Given the description of an element on the screen output the (x, y) to click on. 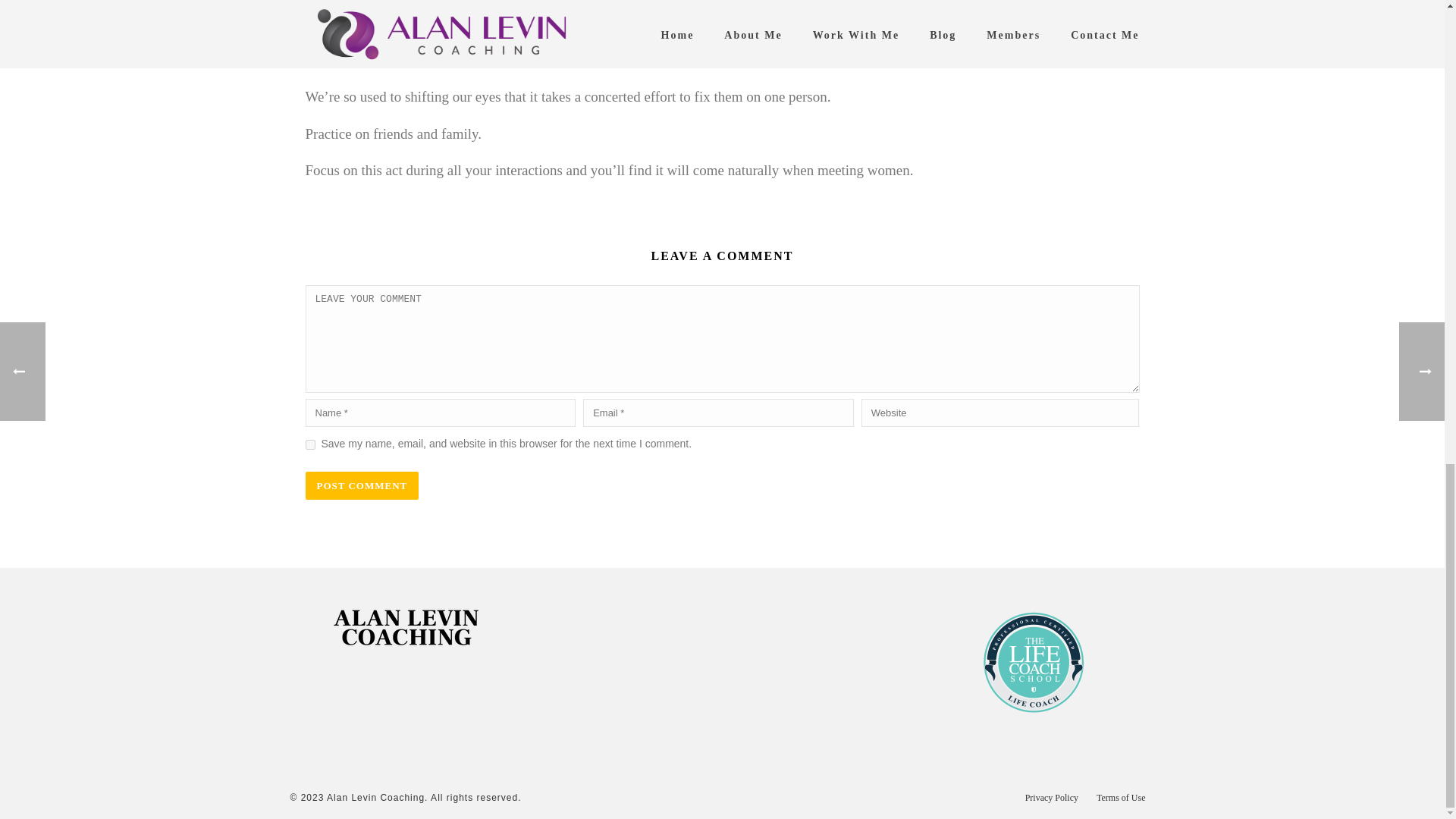
Privacy Policy (1051, 797)
yes (309, 444)
Terms of Use (1120, 797)
POST COMMENT (361, 485)
POST COMMENT (361, 485)
